Given the description of an element on the screen output the (x, y) to click on. 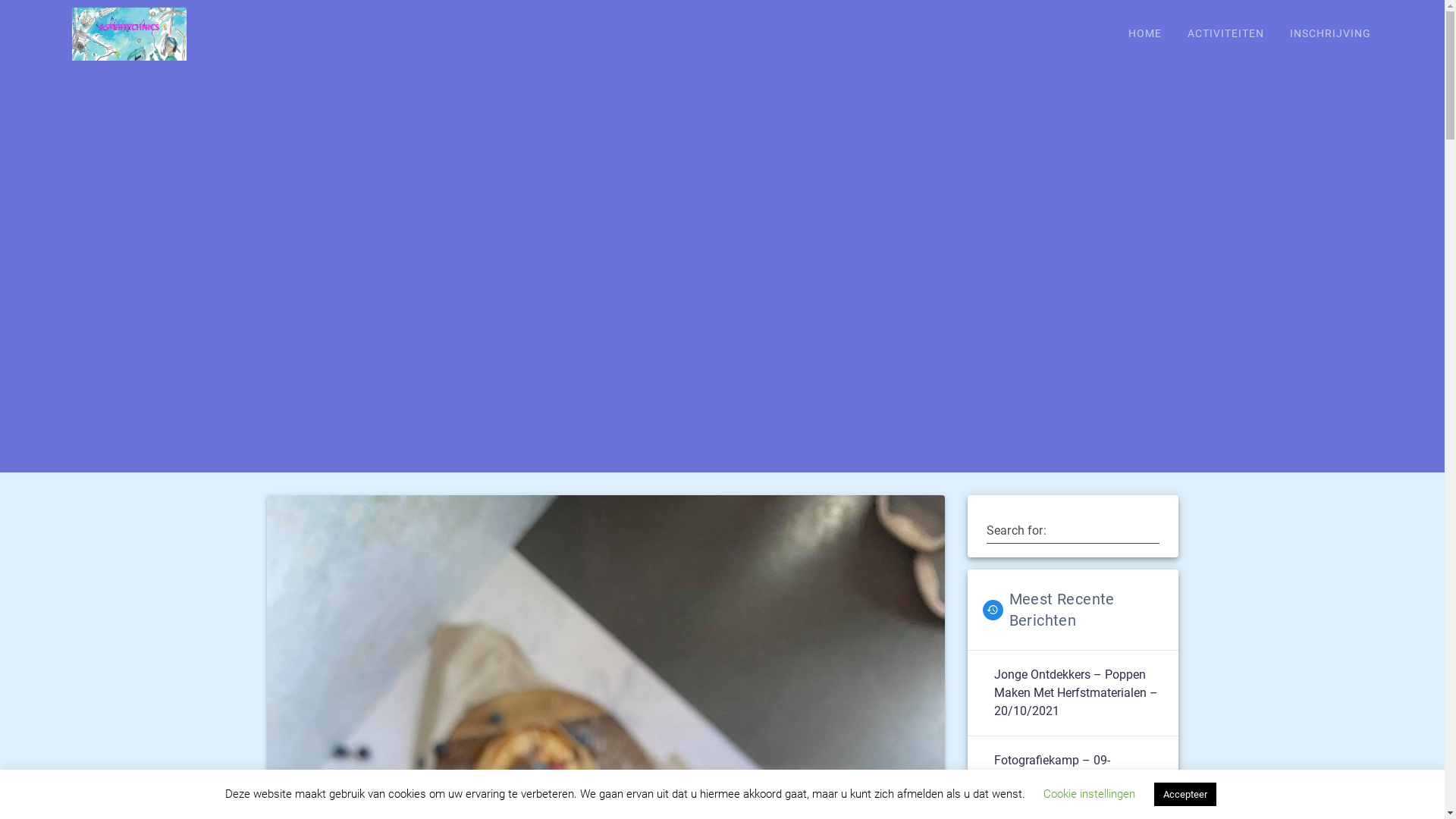
Cookie instellingen Element type: text (1089, 793)
ACTIVITEITEN Element type: text (1225, 34)
HOME Element type: text (1144, 34)
INSCHRIJVING Element type: text (1330, 34)
Accepteer Element type: text (1185, 794)
